Given the description of an element on the screen output the (x, y) to click on. 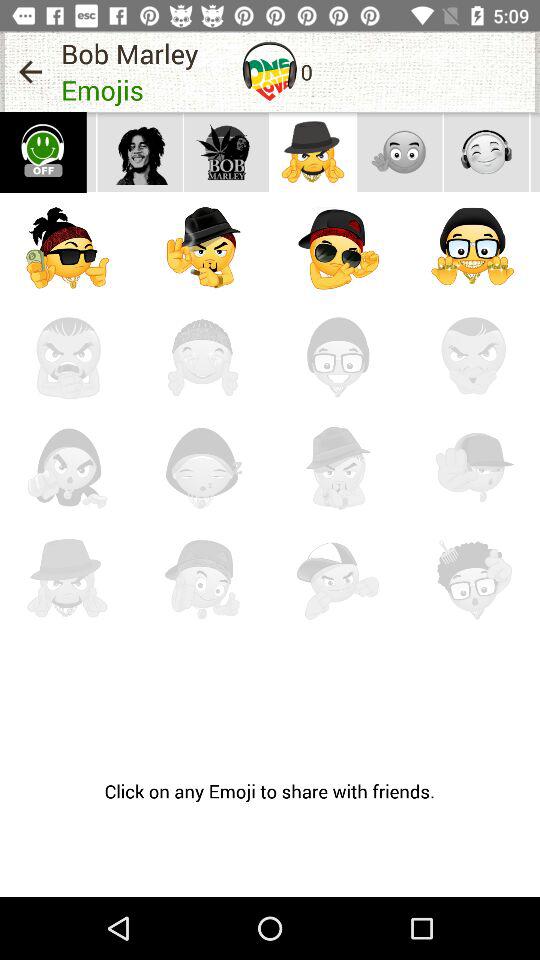
open the item next to the 0 (269, 71)
